Given the description of an element on the screen output the (x, y) to click on. 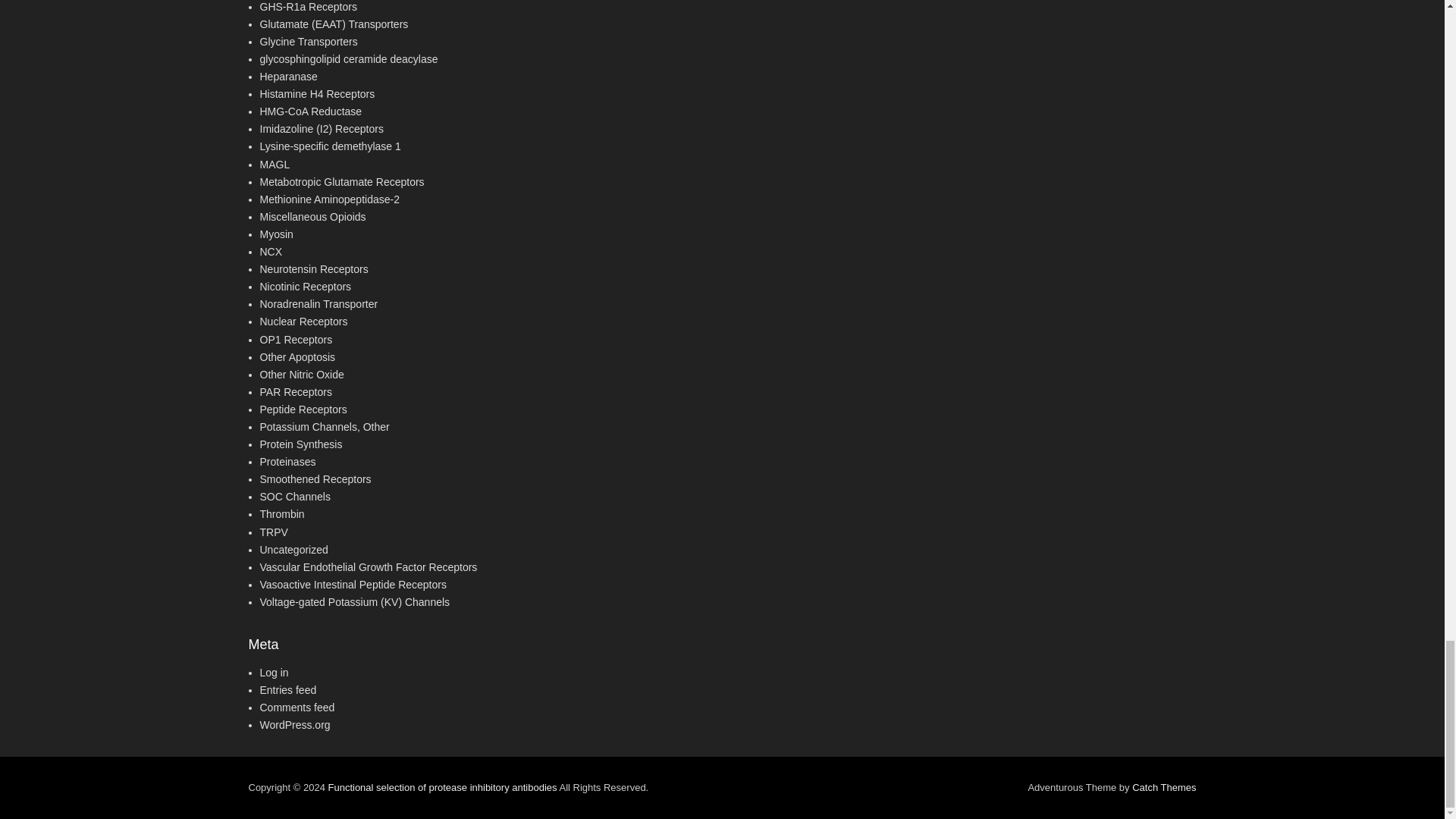
Catch Themes (1163, 787)
Functional selection of protease inhibitory antibodies (441, 787)
